Given the description of an element on the screen output the (x, y) to click on. 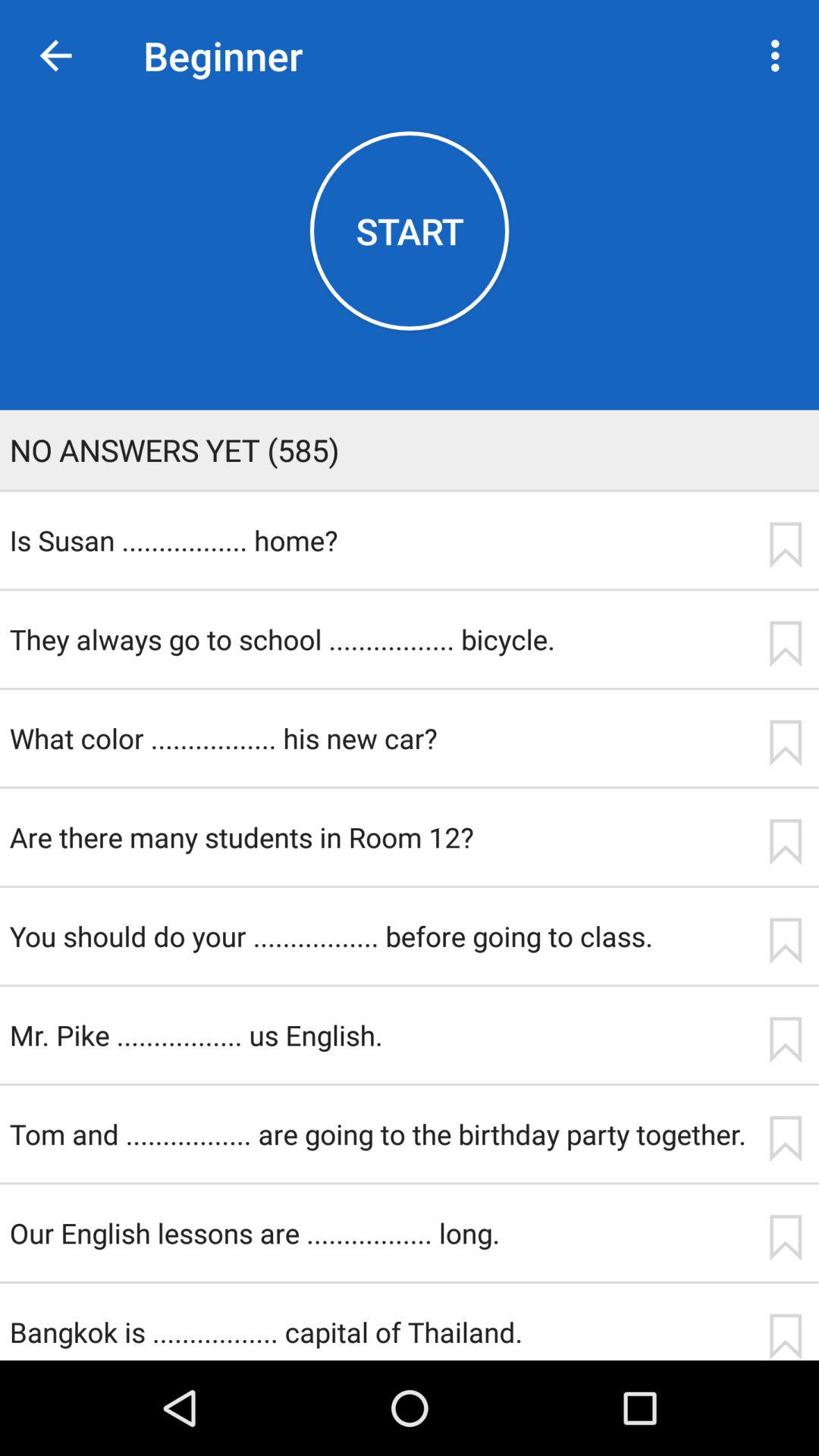
save (784, 1039)
